Given the description of an element on the screen output the (x, y) to click on. 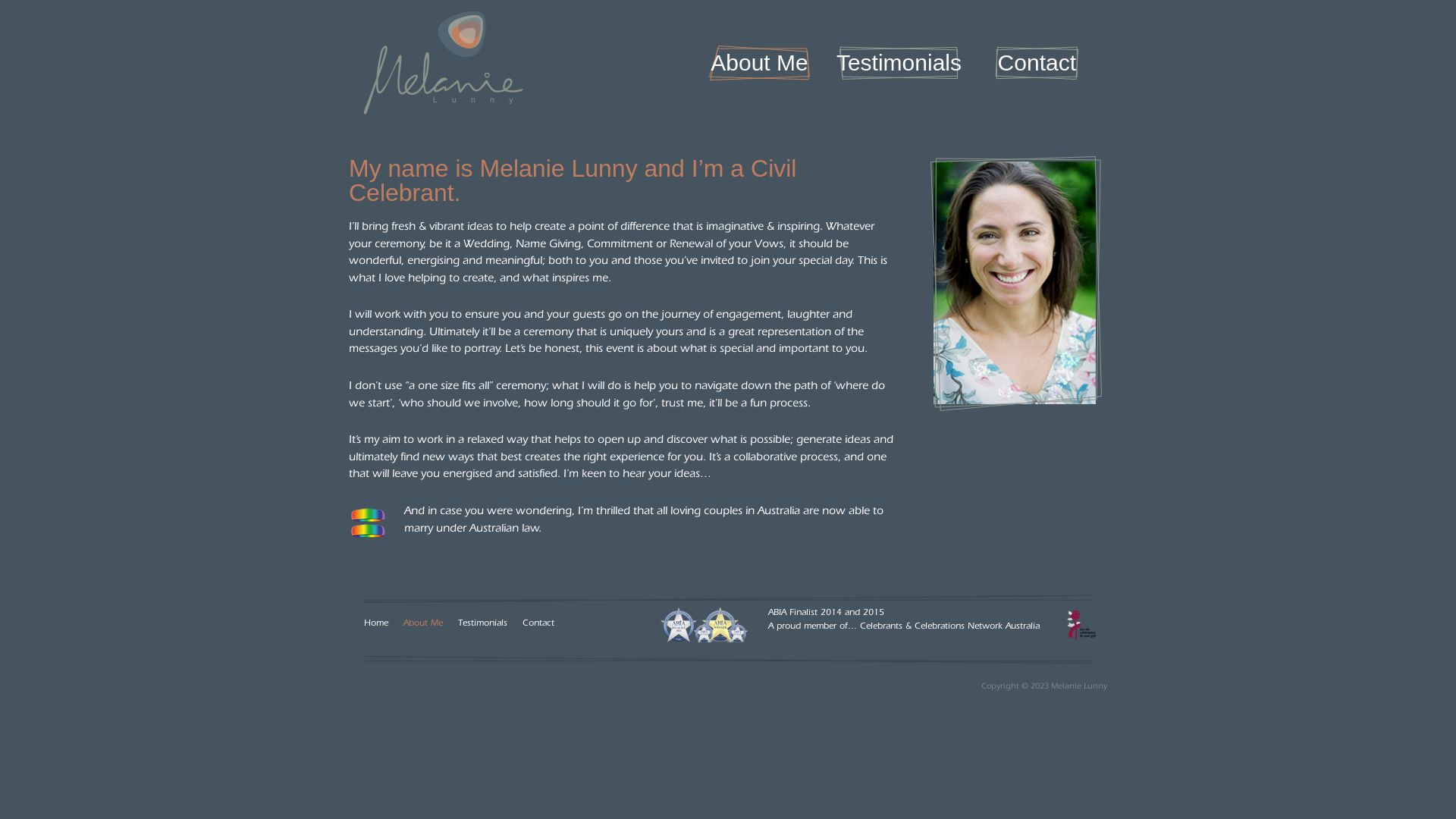
Testimonials Element type: text (482, 623)
Contact Element type: text (537, 623)
About Me Element type: text (758, 62)
Home Element type: text (375, 623)
Testimonials Element type: text (898, 62)
Celebrants For Marriage Equality Logo Element type: hover (367, 523)
logo Element type: hover (443, 62)
Contact Element type: text (1036, 62)
About Me Element type: text (422, 623)
